Given the description of an element on the screen output the (x, y) to click on. 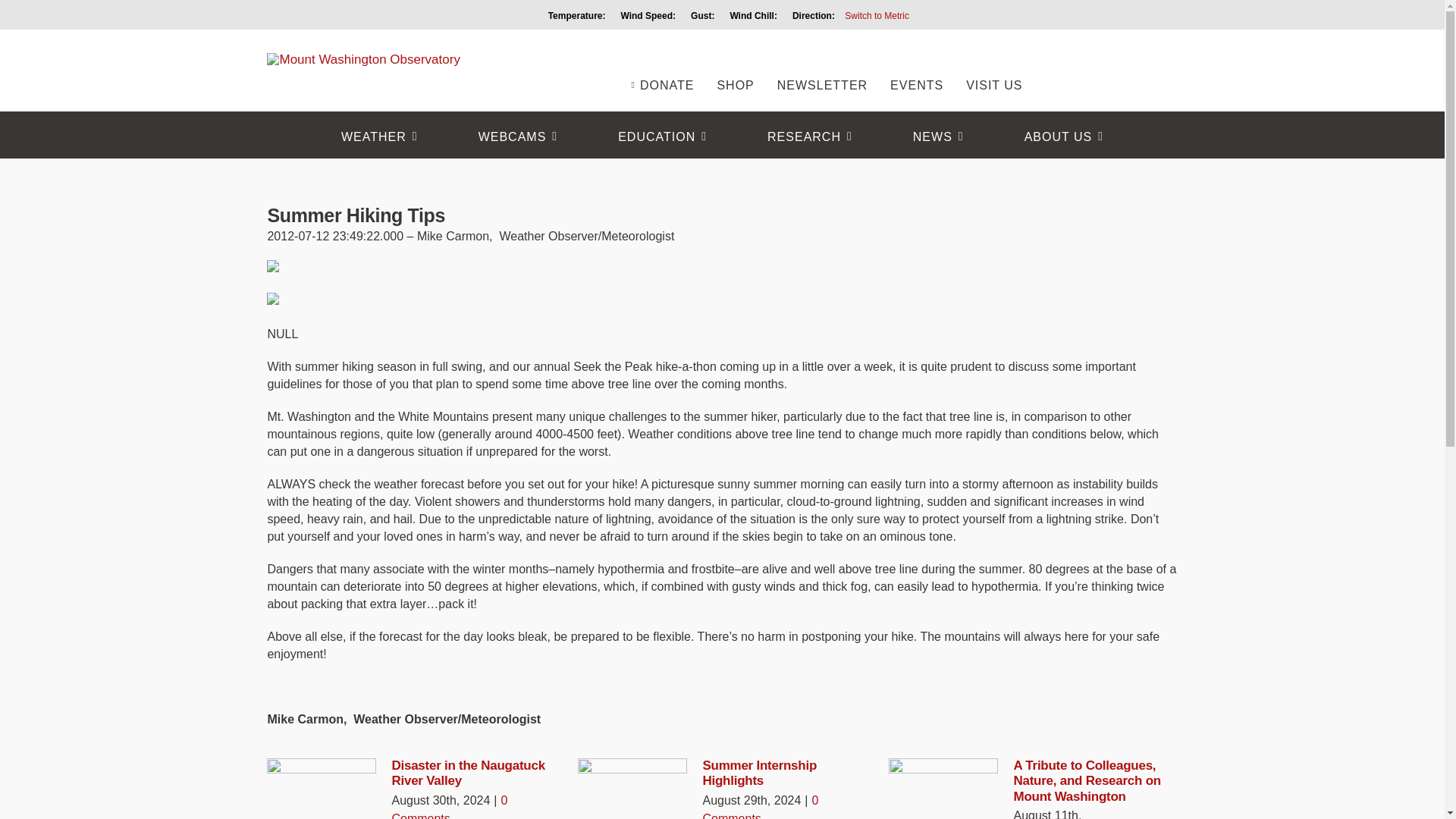
NEWSLETTER (822, 62)
Switch to Metric (876, 15)
WEATHER (379, 136)
WEBCAMS (518, 136)
EDUCATION (662, 136)
DONATE (660, 62)
